Given the description of an element on the screen output the (x, y) to click on. 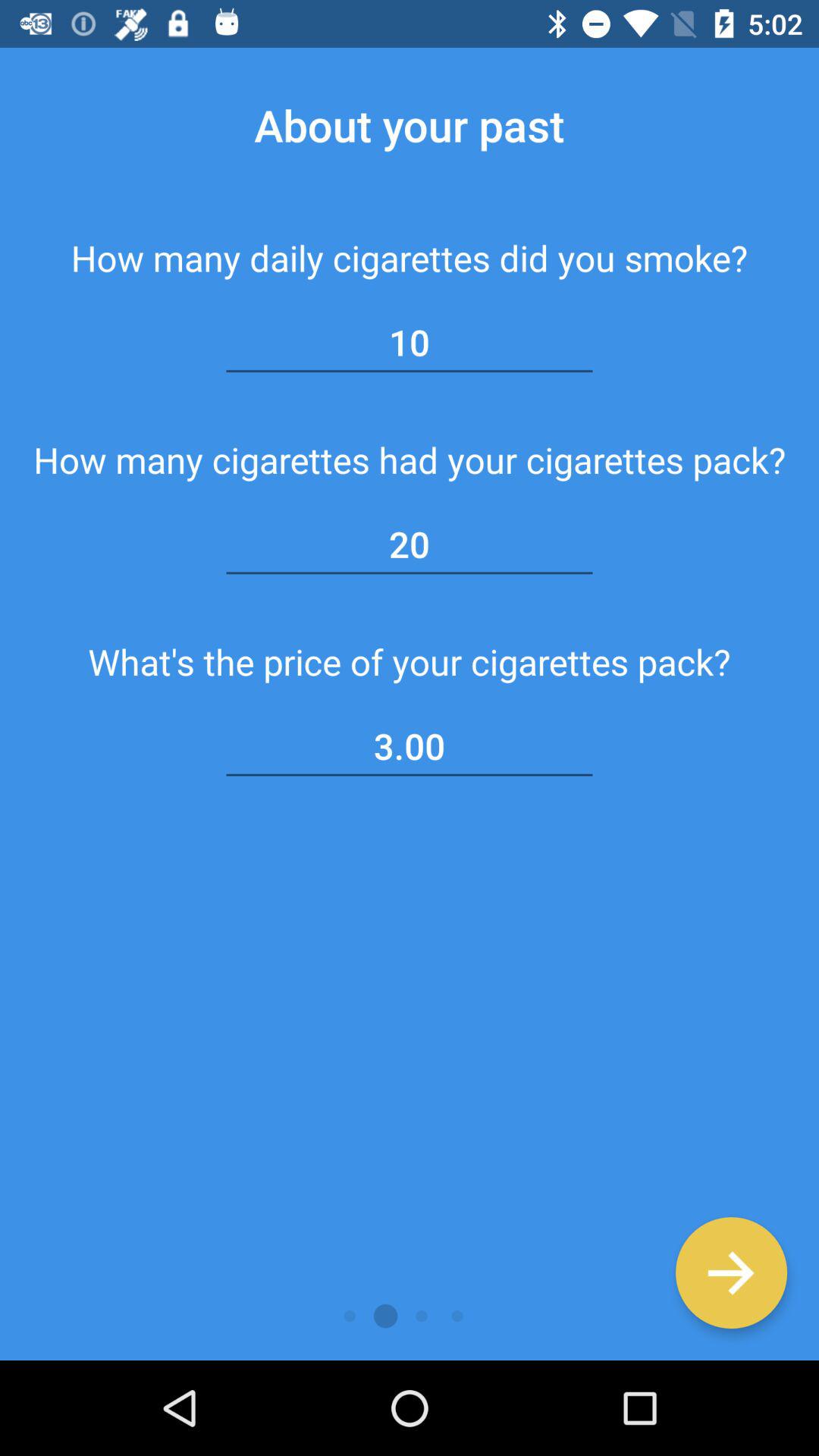
move to the next page (731, 1272)
